Given the description of an element on the screen output the (x, y) to click on. 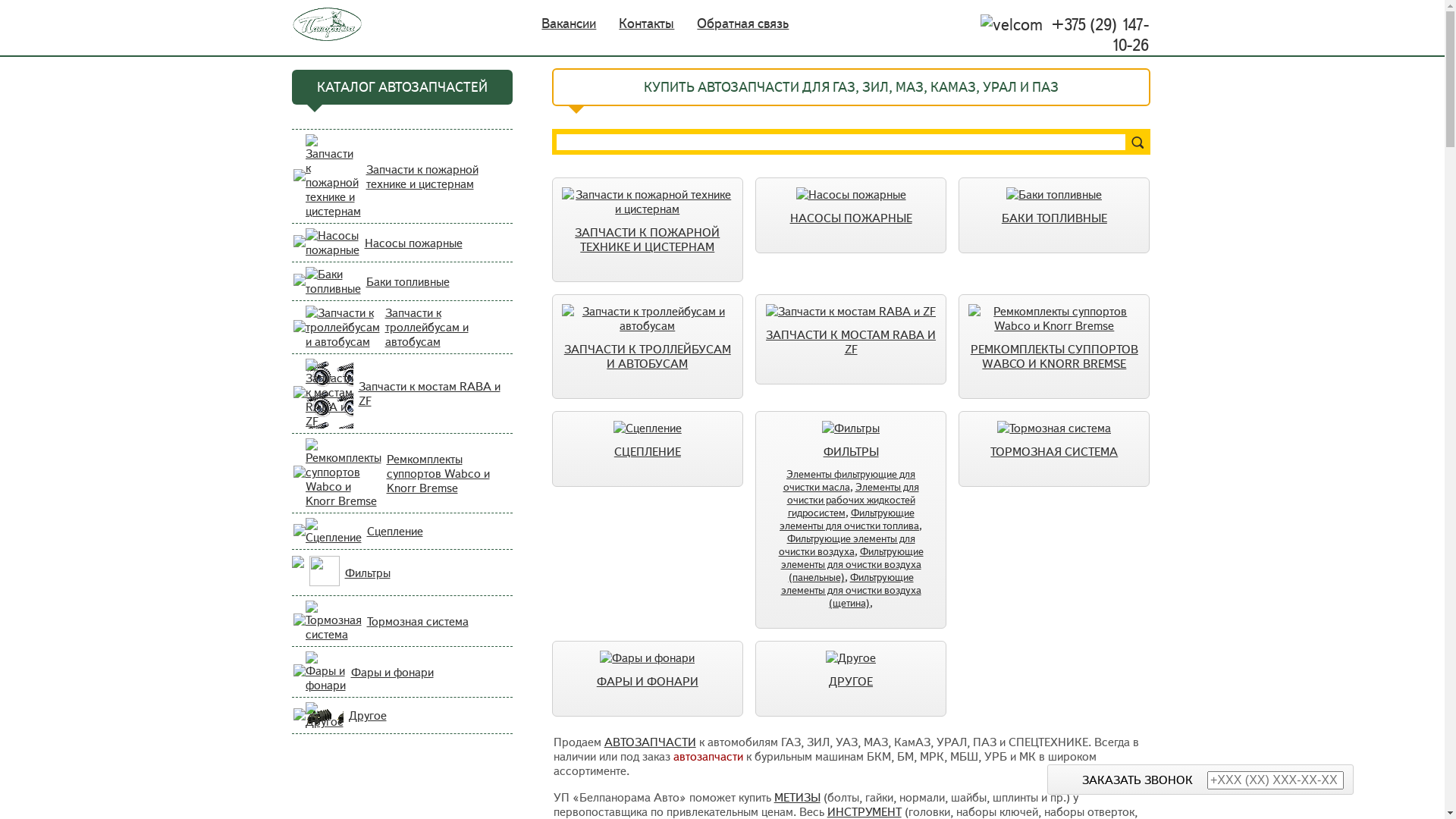
+375 (29) 147-10-26 Element type: hover (1010, 24)
http://belpanorama.by/ Element type: hover (316, 24)
+375 (29) 147-10-26 Element type: text (715, 34)
http://belpanorama.by/ Element type: hover (326, 23)
+XXX (XX) XXX-XX-XX Element type: hover (1275, 780)
